Given the description of an element on the screen output the (x, y) to click on. 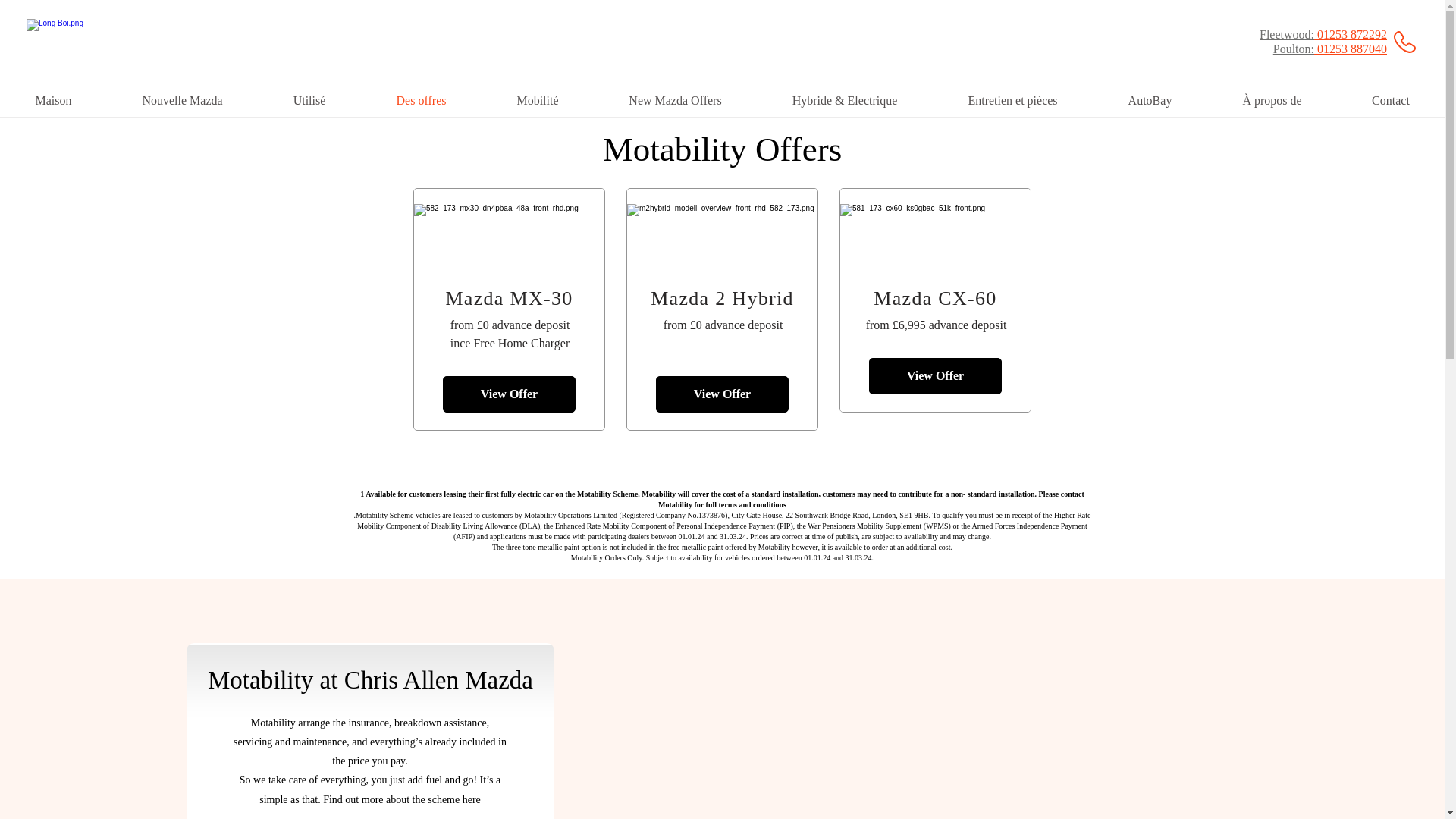
Poulton: (1293, 48)
Fleetwood: (1286, 33)
01253 887040 (1350, 48)
Maison (53, 101)
AutoBay (1150, 101)
01253 872292 (1350, 33)
Des offres (421, 101)
New Mazda Offers (675, 101)
Nouvelle Mazda (181, 101)
